Given the description of an element on the screen output the (x, y) to click on. 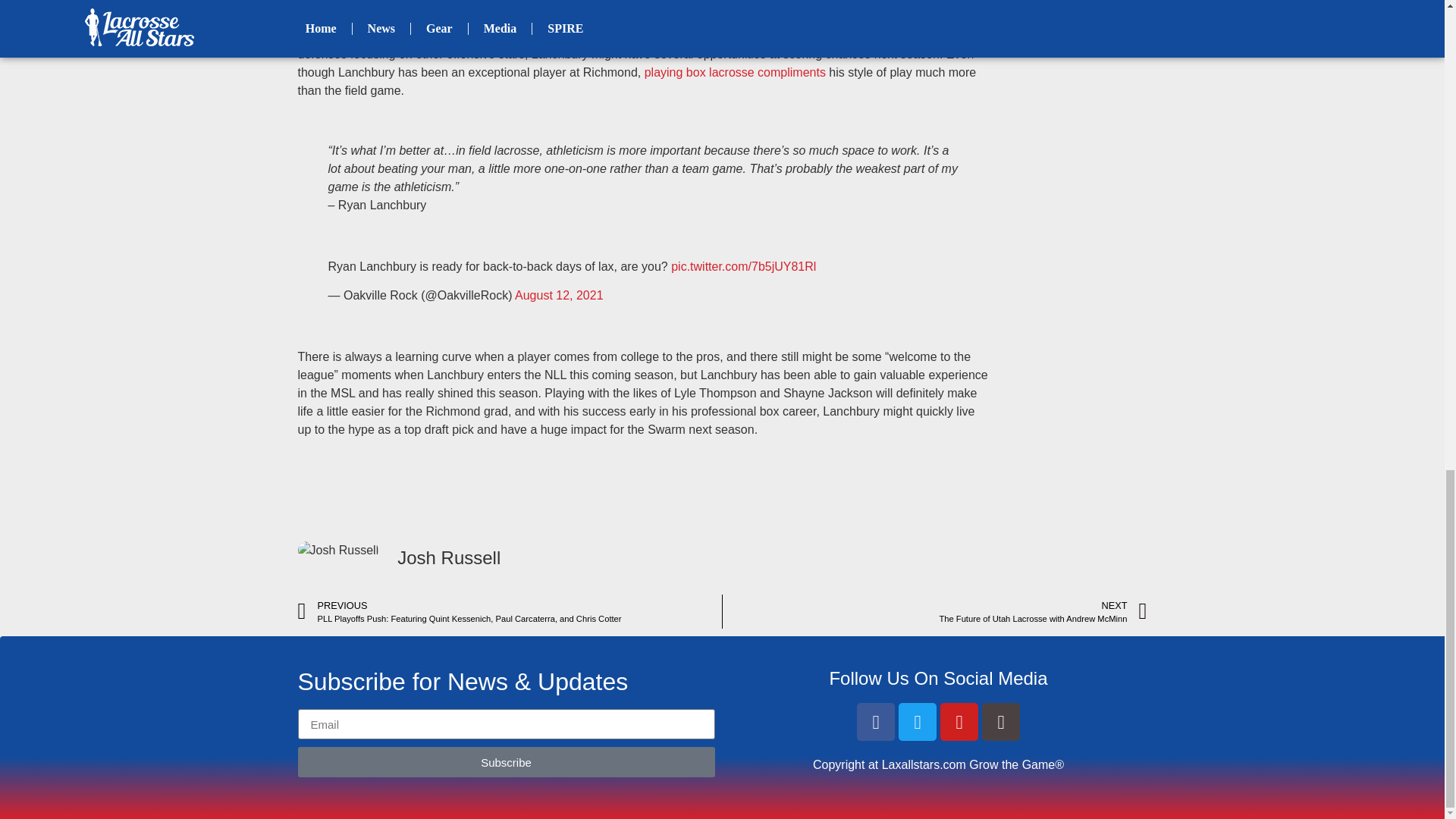
August 12, 2021 (559, 295)
playing box lacrosse compliments (735, 72)
